Given the description of an element on the screen output the (x, y) to click on. 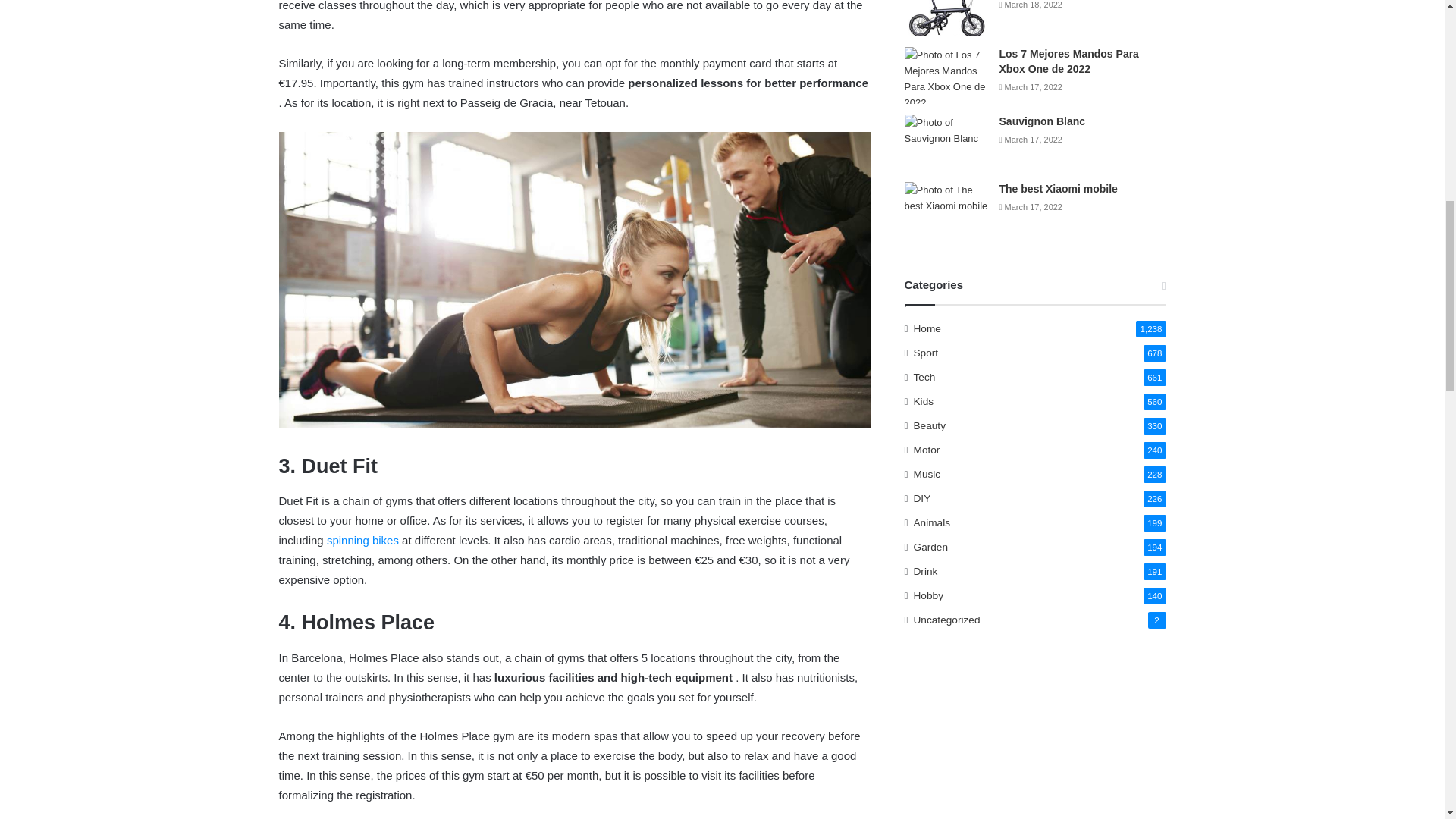
spinning bikes (362, 540)
